Given the description of an element on the screen output the (x, y) to click on. 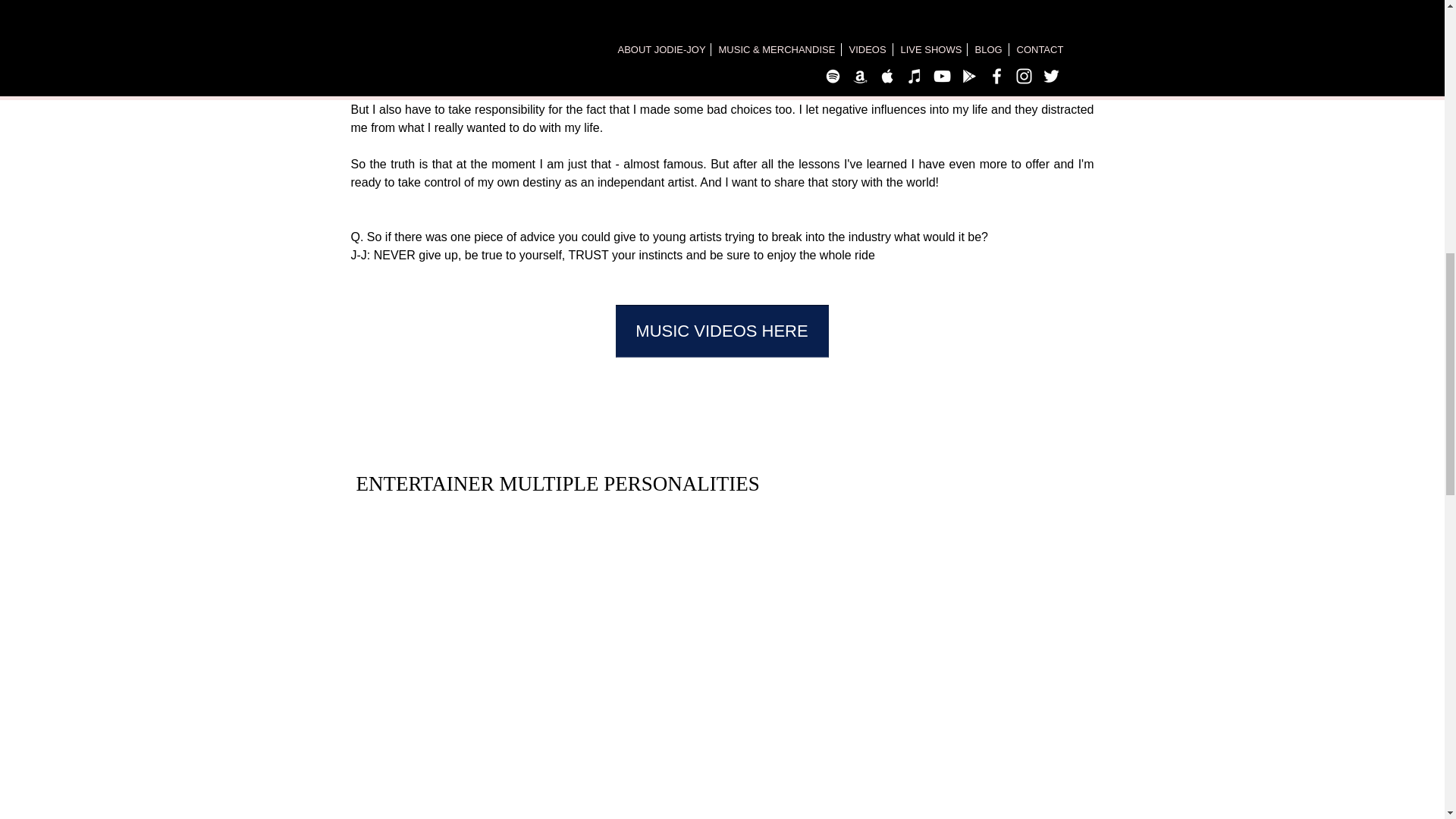
MUSIC VIDEOS HERE (721, 330)
